Given the description of an element on the screen output the (x, y) to click on. 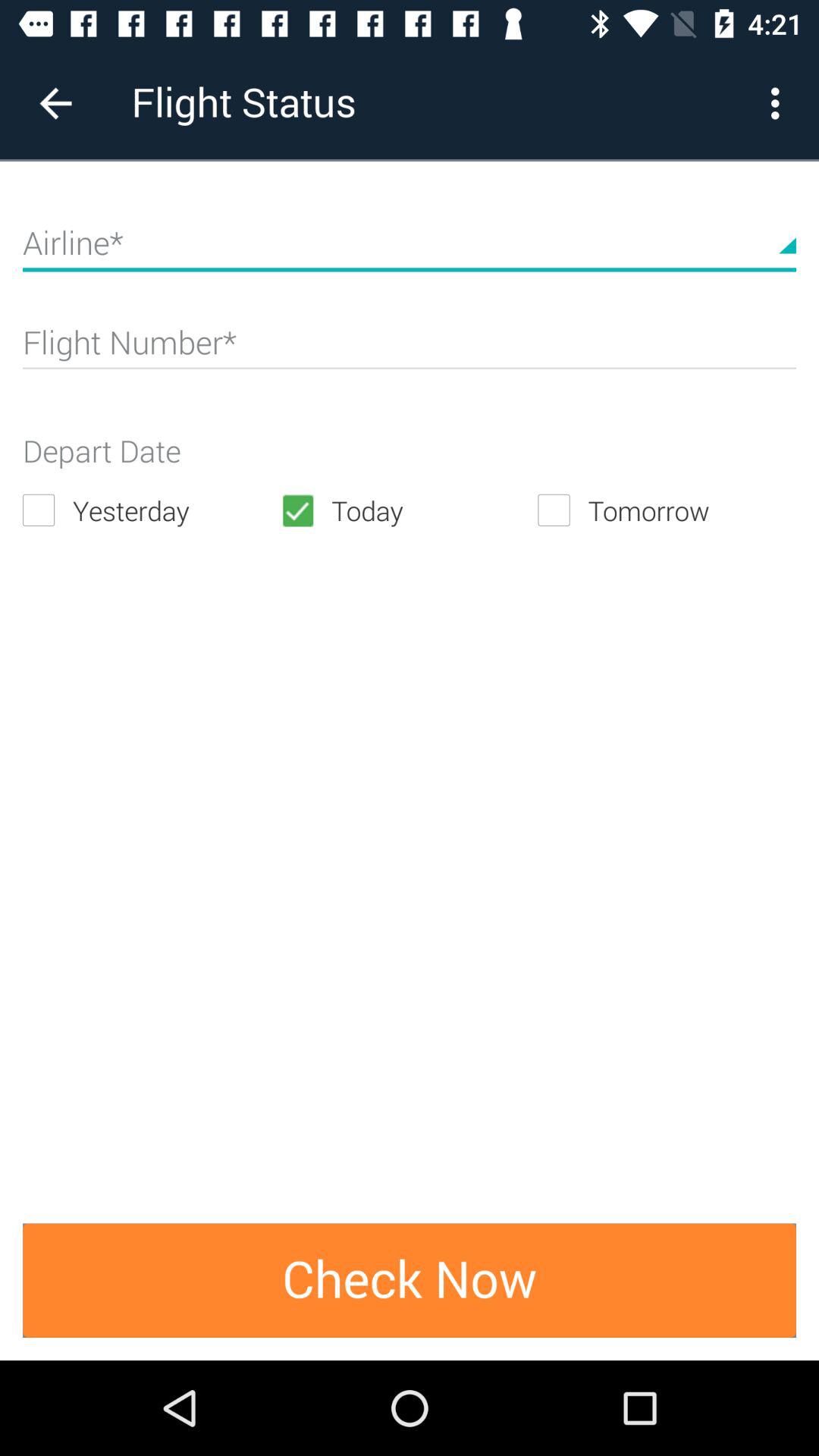
enter a flight number (409, 348)
